Given the description of an element on the screen output the (x, y) to click on. 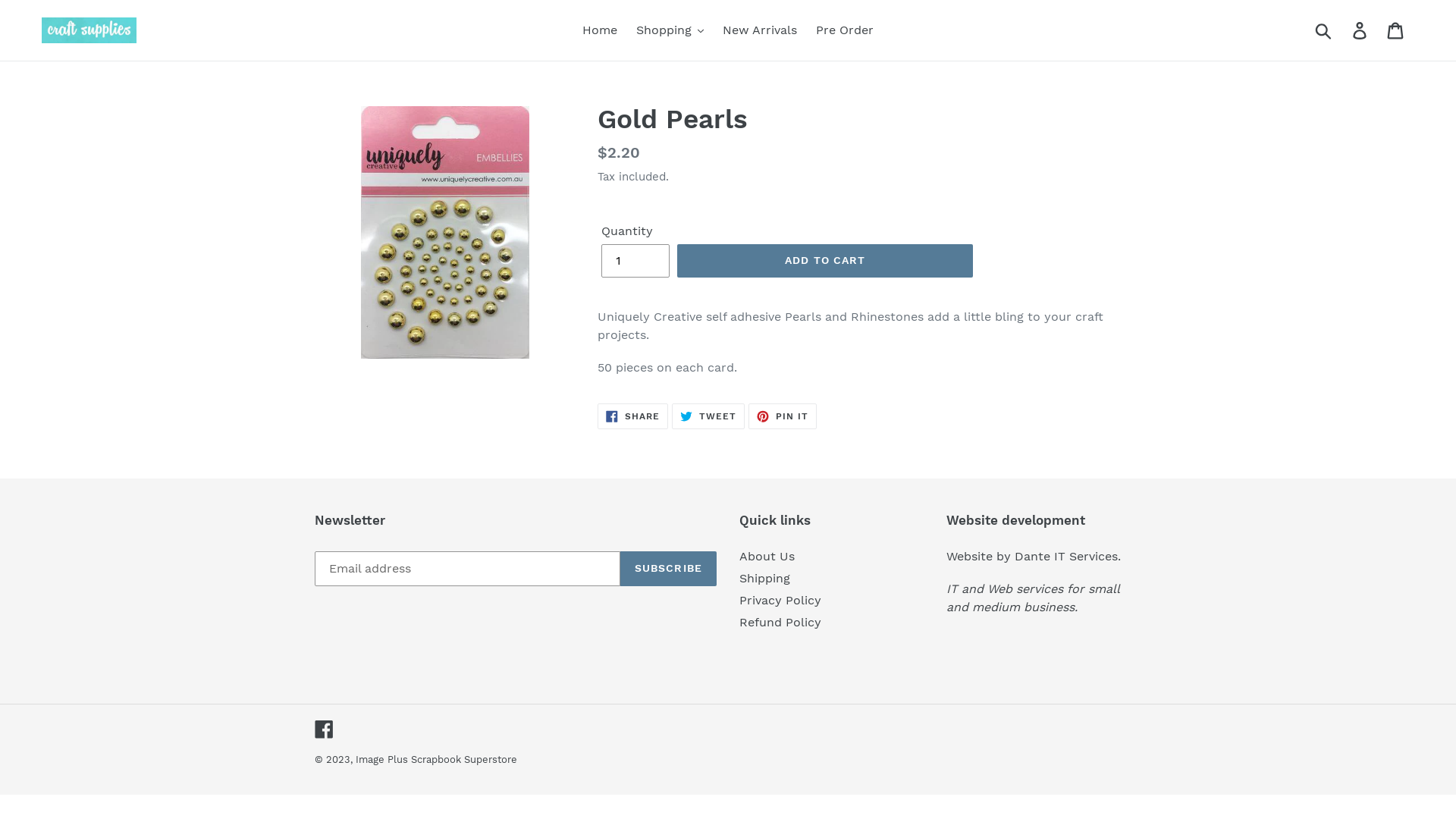
SHARE
SHARE ON FACEBOOK Element type: text (632, 416)
Shipping Element type: text (764, 578)
Dante IT Services Element type: text (1065, 556)
Facebook Element type: text (323, 729)
Image Plus Scrapbook Superstore Element type: text (436, 759)
Submit Element type: text (1324, 30)
Cart Element type: text (1396, 30)
New Arrivals Element type: text (759, 29)
Refund Policy Element type: text (780, 622)
TWEET
TWEET ON TWITTER Element type: text (707, 416)
Log in Element type: text (1360, 30)
SUBSCRIBE Element type: text (668, 568)
Privacy Policy Element type: text (780, 600)
About Us Element type: text (766, 556)
Pre Order Element type: text (844, 29)
Home Element type: text (599, 29)
ADD TO CART Element type: text (824, 260)
PIN IT
PIN ON PINTEREST Element type: text (782, 416)
